Given the description of an element on the screen output the (x, y) to click on. 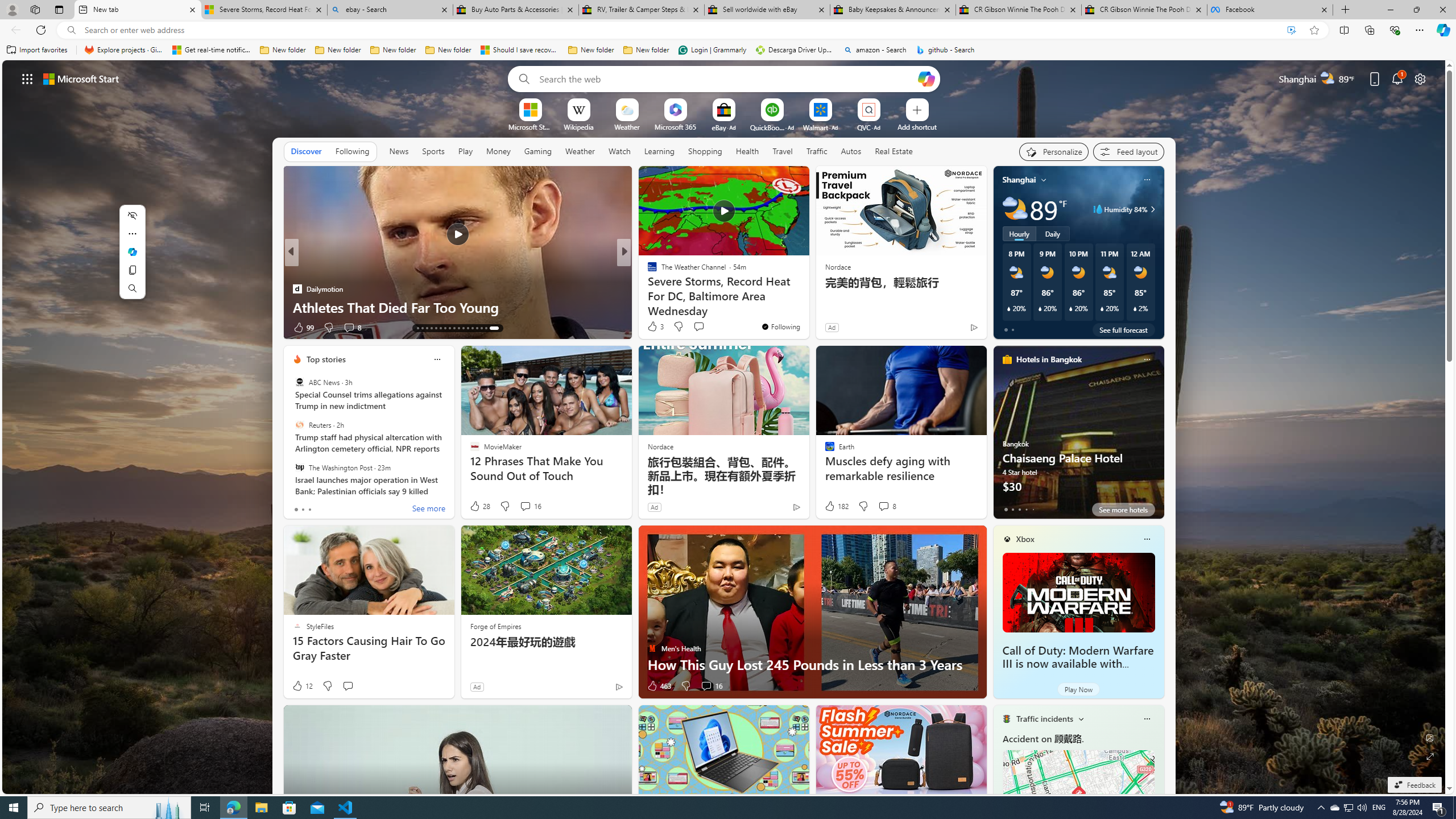
View comments 16 Comment (710, 685)
AutomationID: tab-28 (492, 328)
AutomationID: tab-29 (497, 328)
tab-0 (1005, 509)
tab-2 (1019, 509)
Hide menu (132, 215)
You're following The Weather Channel (780, 326)
Wikipedia (578, 126)
Chaisaeng Palace Hotel (1078, 436)
